Given the description of an element on the screen output the (x, y) to click on. 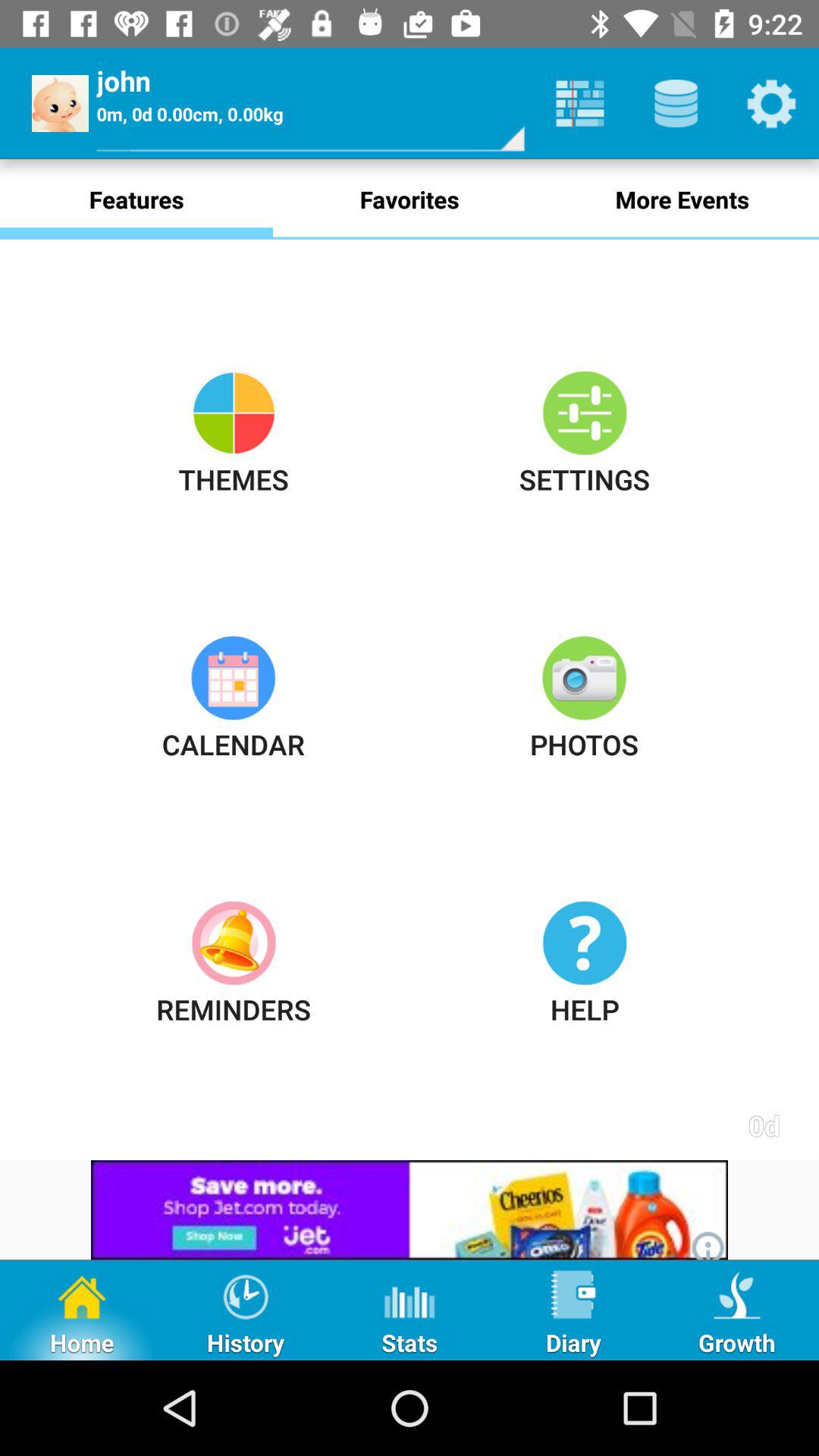
open settings (771, 103)
